Given the description of an element on the screen output the (x, y) to click on. 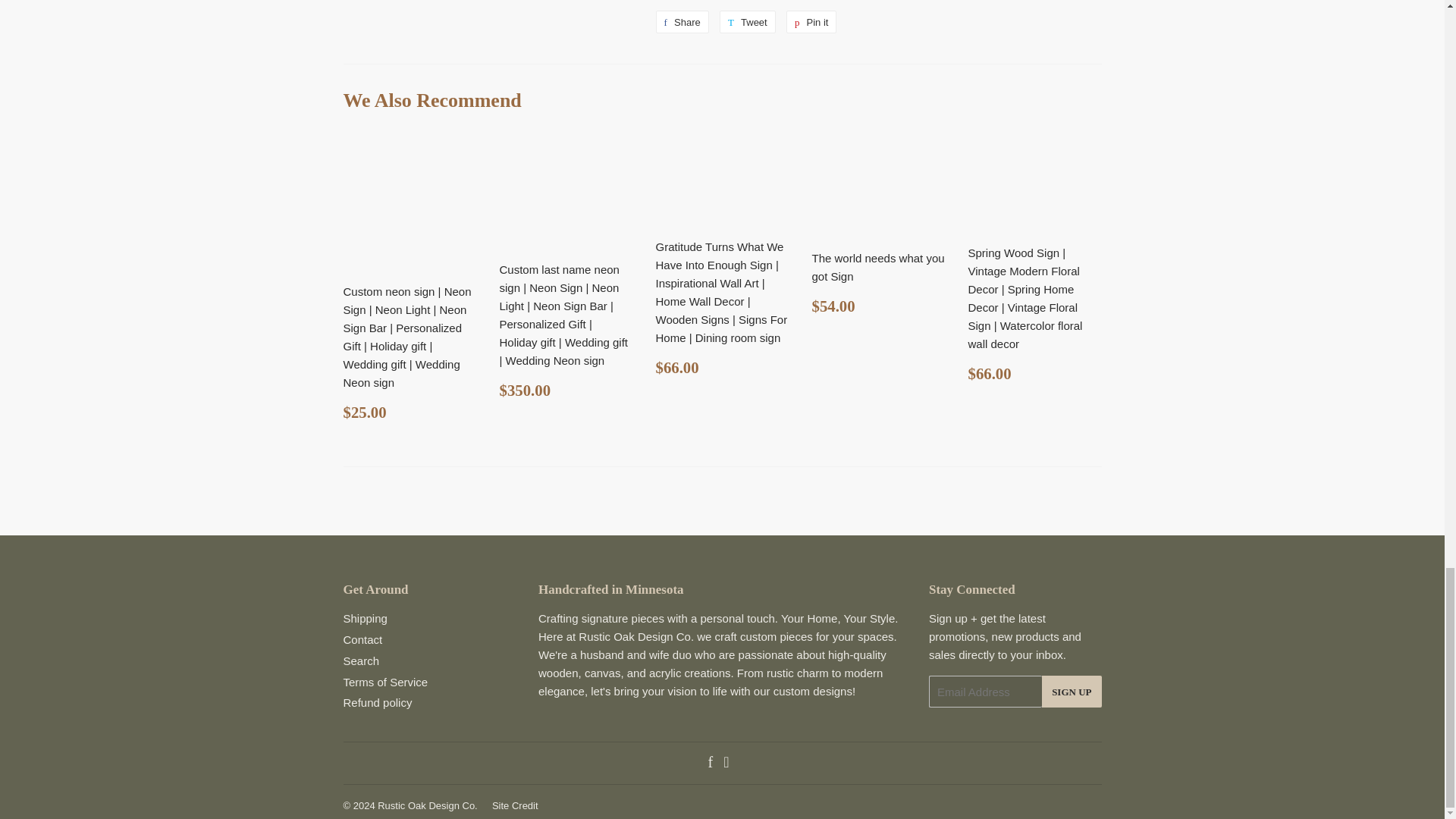
Terms of Service (747, 21)
Search (385, 681)
Rustic Oak Design Co. on Instagram (360, 660)
Share on Facebook (726, 762)
Rustic Oak Design Co. on Facebook (681, 21)
Contact (710, 762)
Shipping (681, 21)
Pin on Pinterest (361, 639)
Tweet on Twitter (364, 617)
